Given the description of an element on the screen output the (x, y) to click on. 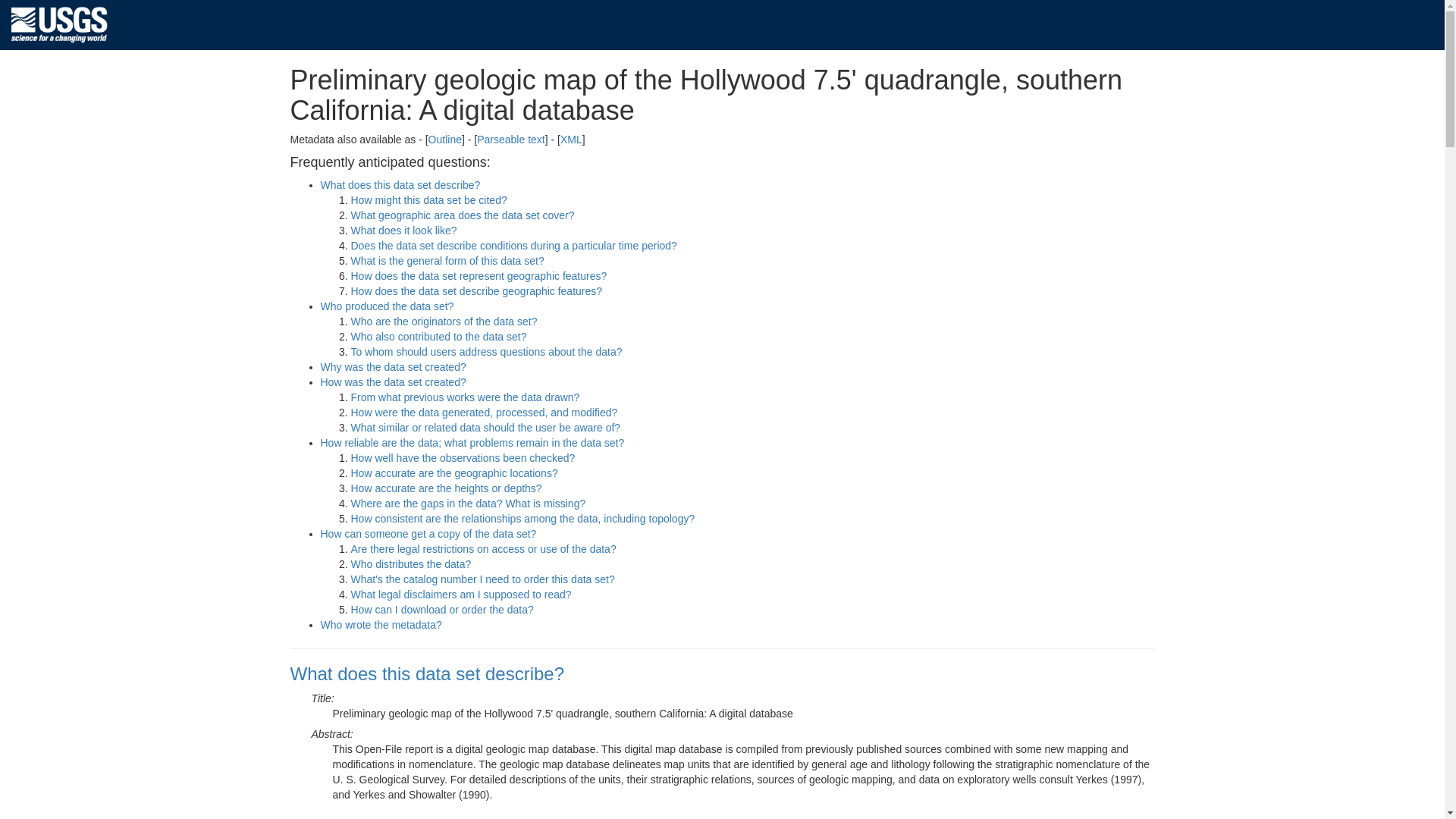
What is the general form of this data set? (446, 260)
Who are the originators of the data set? (443, 321)
How accurate are the geographic locations? (453, 472)
Who also contributed to the data set? (437, 336)
Who produced the data set? (386, 306)
How was the data set created? (392, 381)
How can someone get a copy of the data set? (427, 533)
Parseable text (510, 139)
Where are the gaps in the data? What is missing? (467, 503)
What geographic area does the data set cover? (461, 215)
Home (59, 24)
How does the data set represent geographic features? (478, 275)
This metadata record in an alternative format (510, 139)
To whom should users address questions about the data? (485, 351)
What similar or related data should the user be aware of? (485, 427)
